Given the description of an element on the screen output the (x, y) to click on. 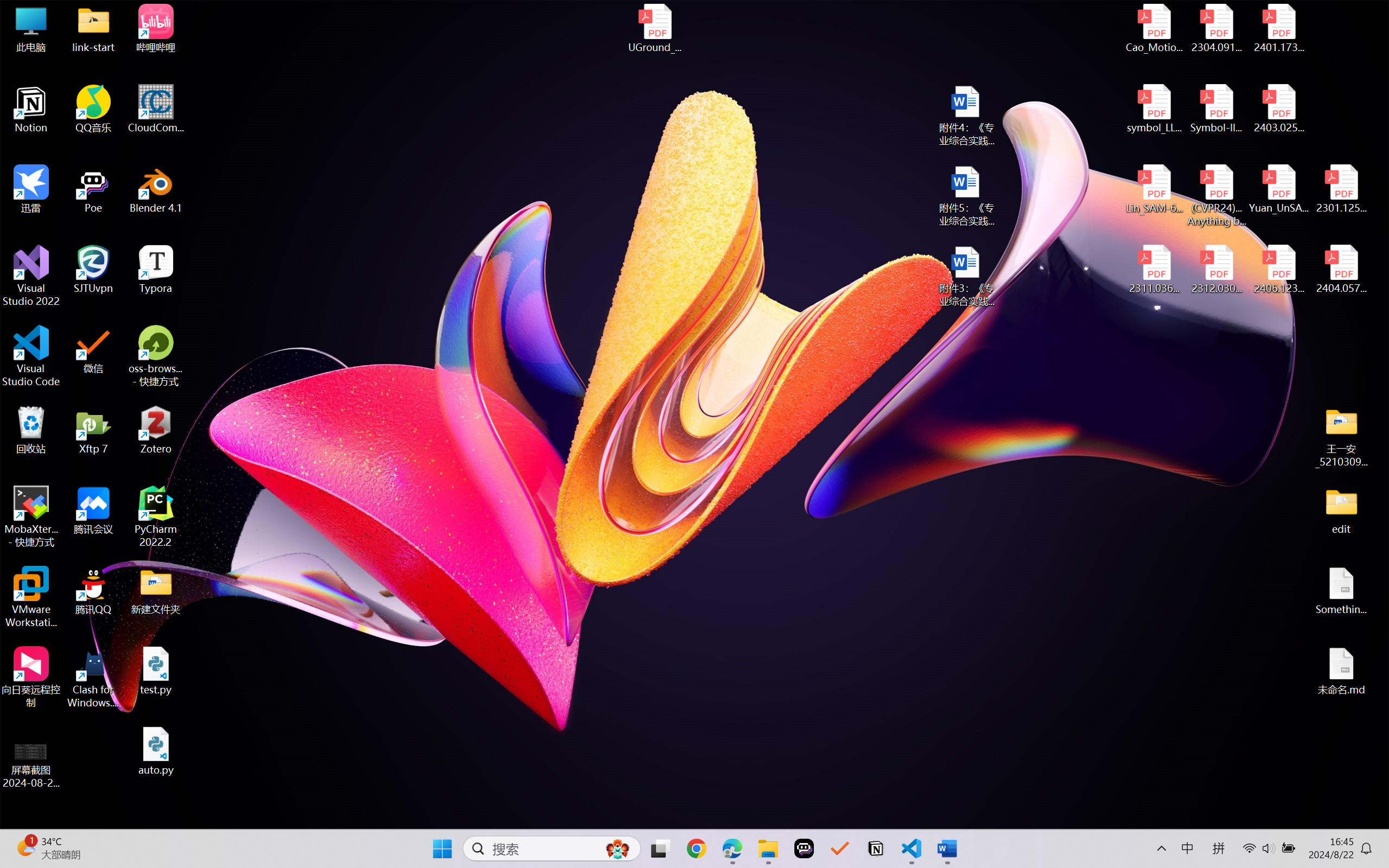
Google Chrome (696, 848)
Something.md (1340, 591)
2311.03658v2.pdf (1154, 269)
2401.17399v1.pdf (1278, 28)
Visual Studio Code (31, 355)
